Given the description of an element on the screen output the (x, y) to click on. 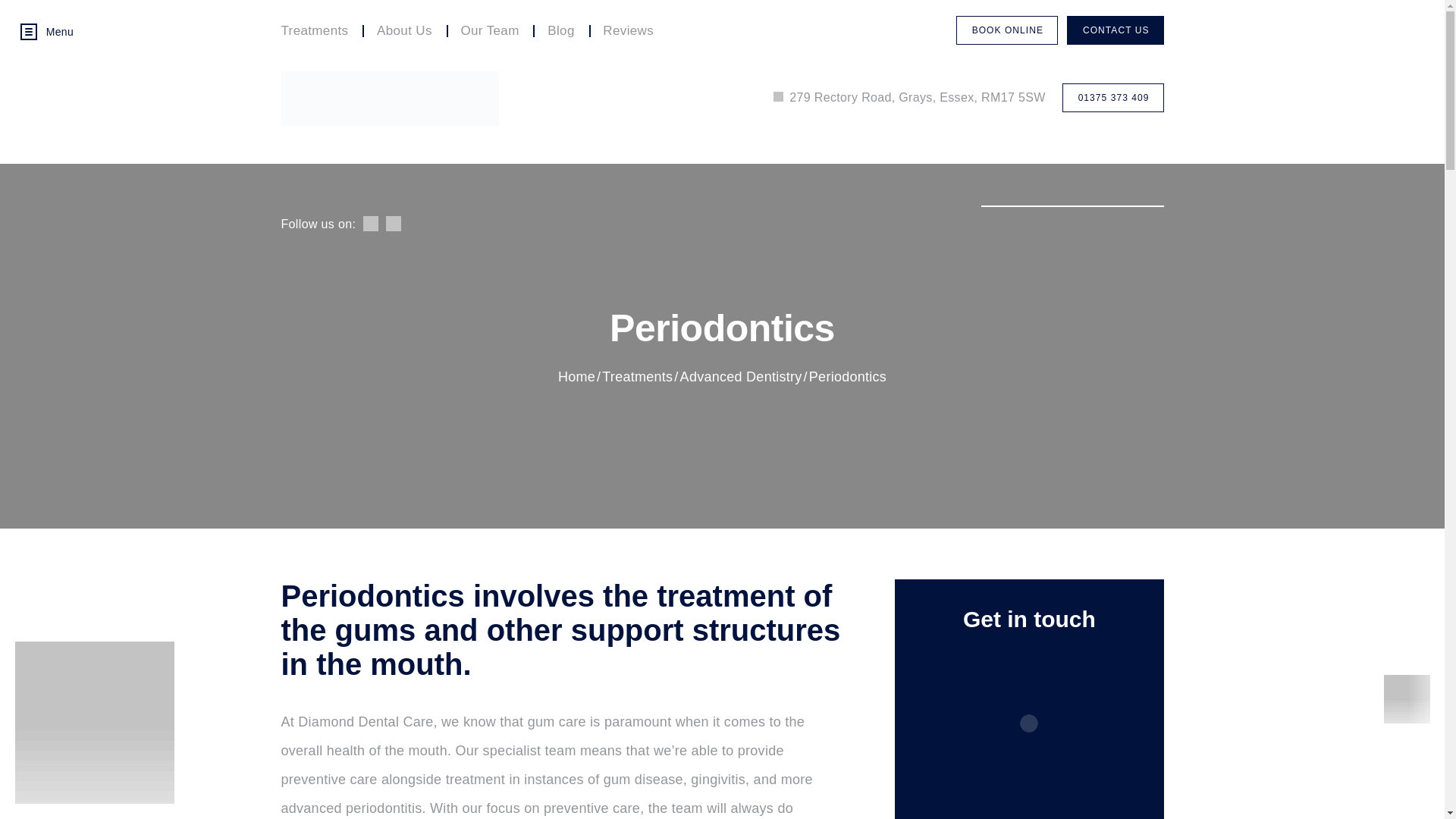
CONTACT US (1115, 30)
Home (576, 376)
Reviews (628, 30)
Advanced Dentistry (740, 376)
Blog (560, 30)
BOOK ONLINE (1007, 30)
Treatments (637, 376)
Treatments (321, 30)
01375 373 409 (1112, 97)
Menu (62, 31)
